Given the description of an element on the screen output the (x, y) to click on. 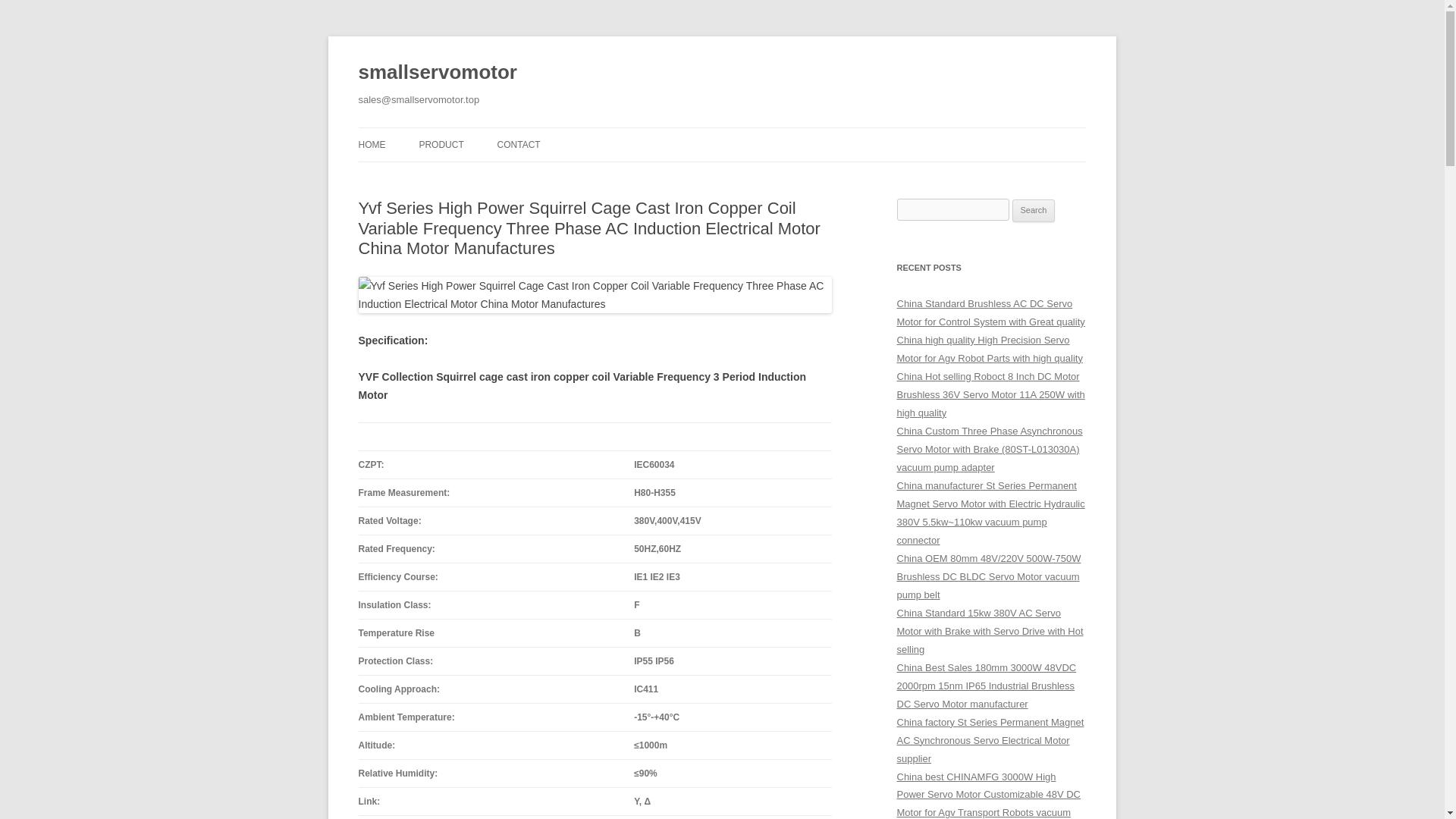
smallservomotor (437, 72)
CONTACT (518, 144)
smallservomotor (437, 72)
Search (1033, 210)
PRODUCT (441, 144)
